Given the description of an element on the screen output the (x, y) to click on. 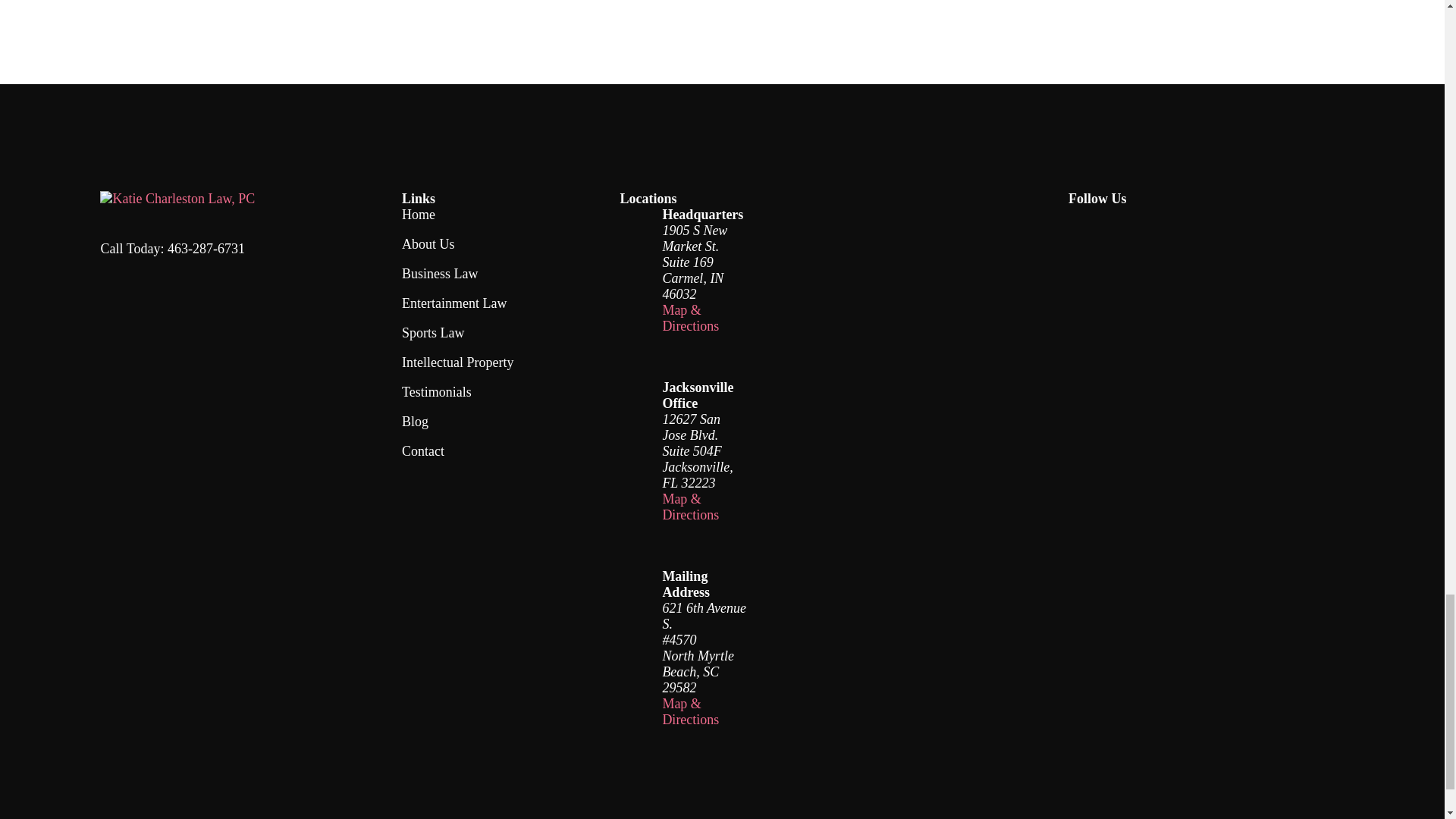
Instagram (1162, 227)
LinkedIn (1249, 227)
Home (177, 198)
Google Business Profile (1118, 227)
Facebook (1074, 227)
Twitter (1205, 227)
